Given the description of an element on the screen output the (x, y) to click on. 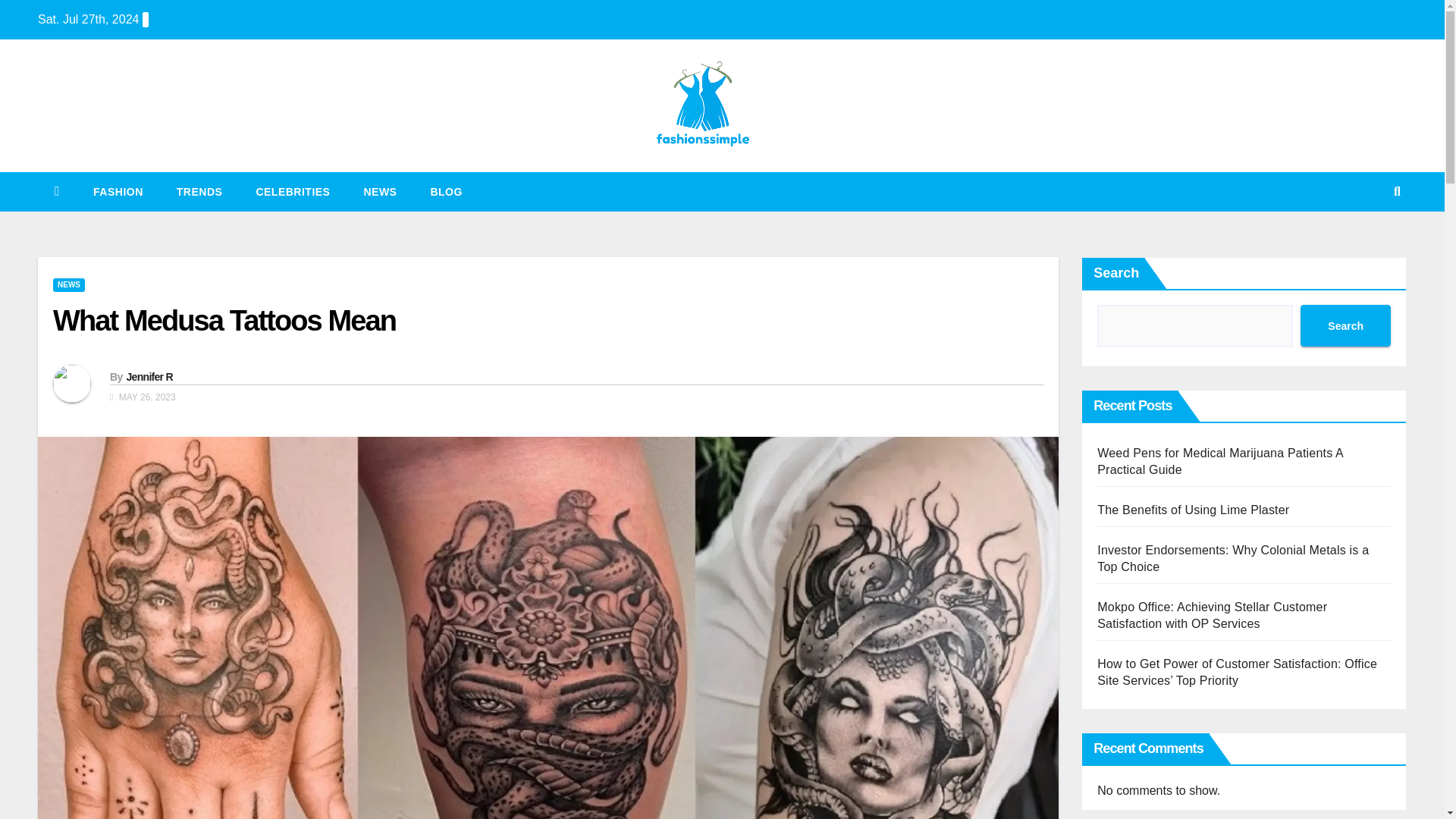
BLOG (446, 191)
News (379, 191)
TRENDS (200, 191)
NEWS (68, 284)
Celebrities (292, 191)
What Medusa Tattoos Mean (224, 320)
NEWS (379, 191)
Blog (446, 191)
Fashion (118, 191)
Trends (200, 191)
Permalink to: What Medusa Tattoos Mean (224, 320)
FASHION (118, 191)
Jennifer R (148, 377)
CELEBRITIES (292, 191)
